Given the description of an element on the screen output the (x, y) to click on. 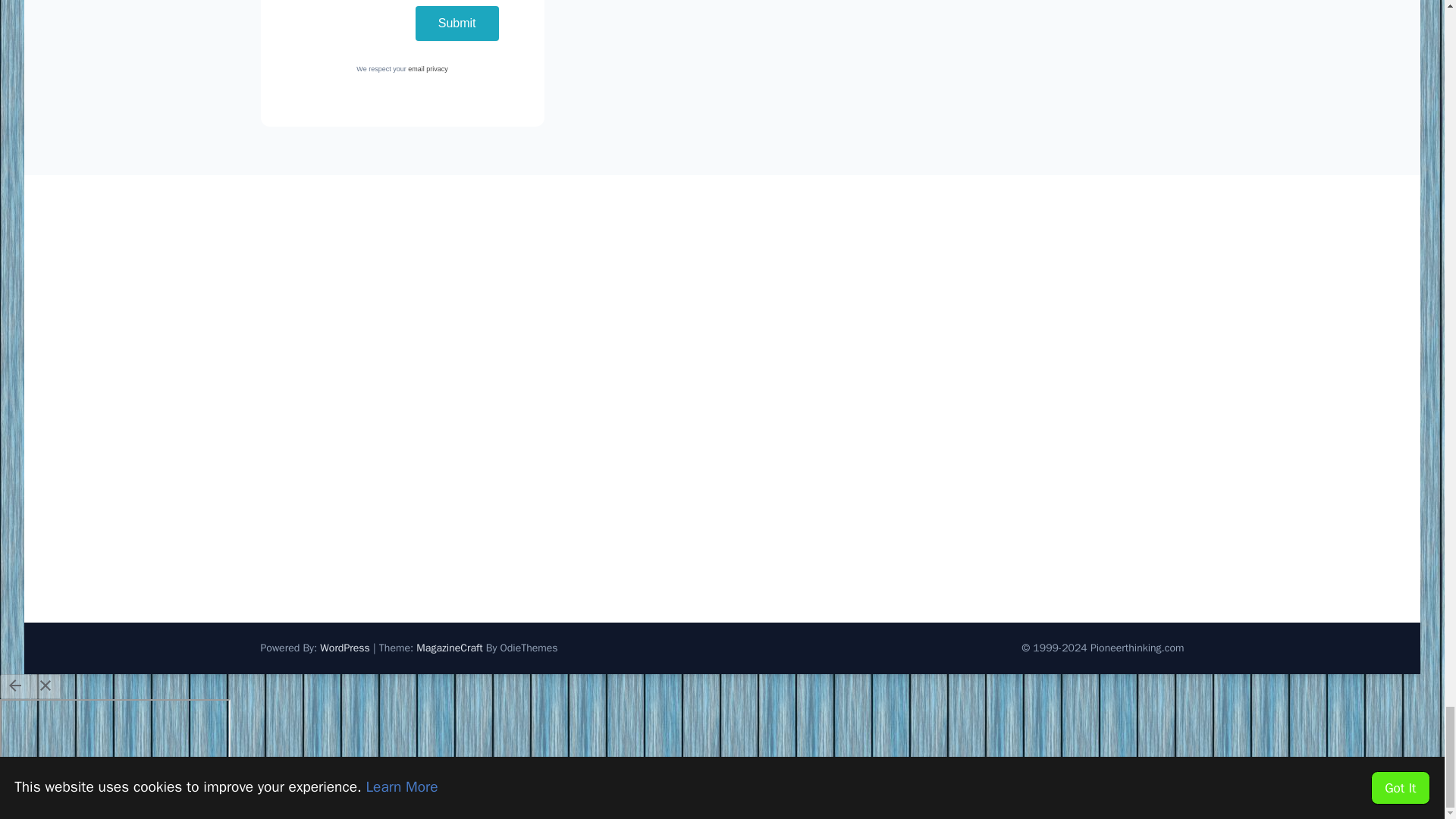
Privacy Policy (427, 68)
Submit (456, 22)
